Given the description of an element on the screen output the (x, y) to click on. 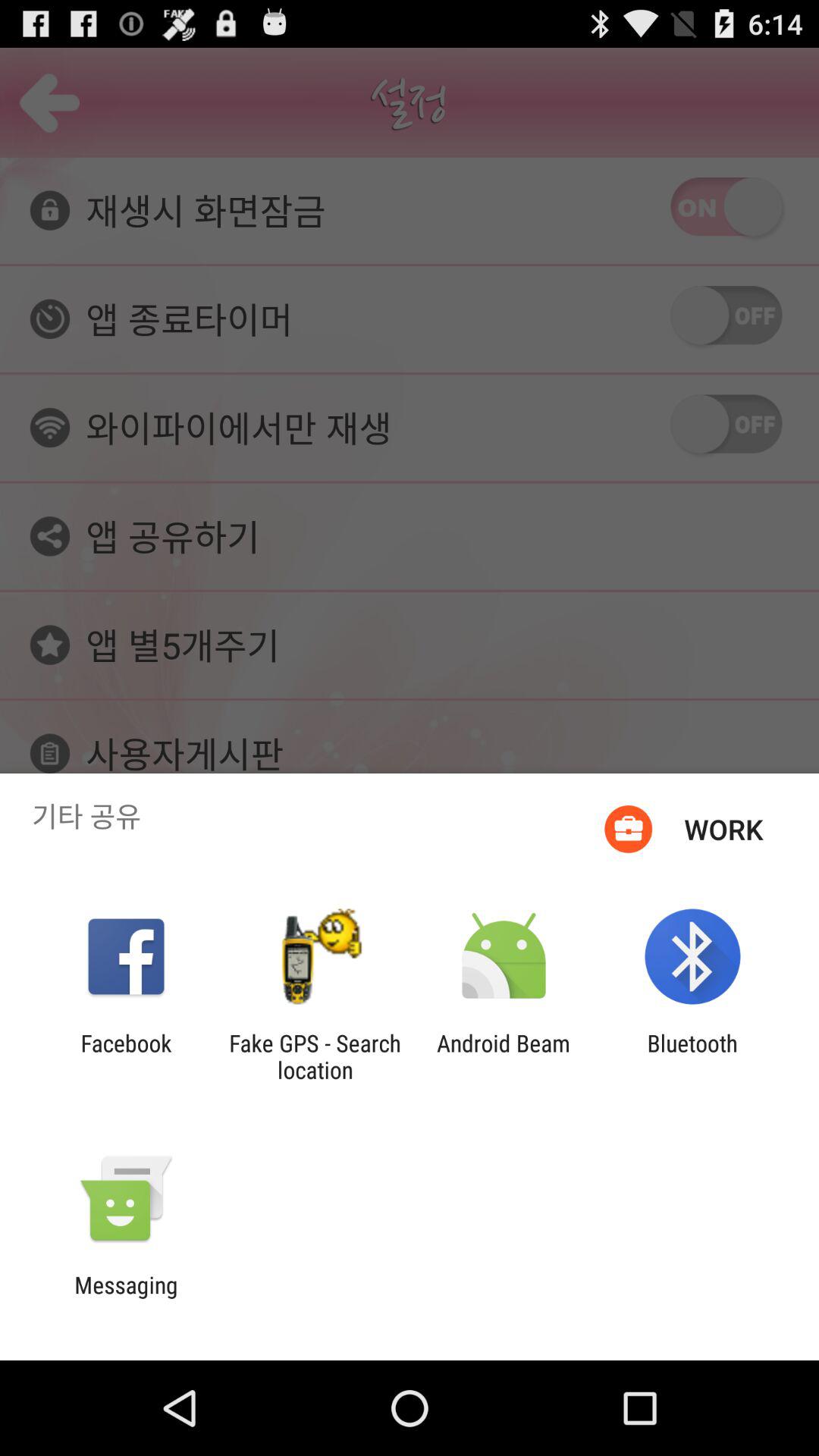
choose the icon next to bluetooth item (503, 1056)
